Given the description of an element on the screen output the (x, y) to click on. 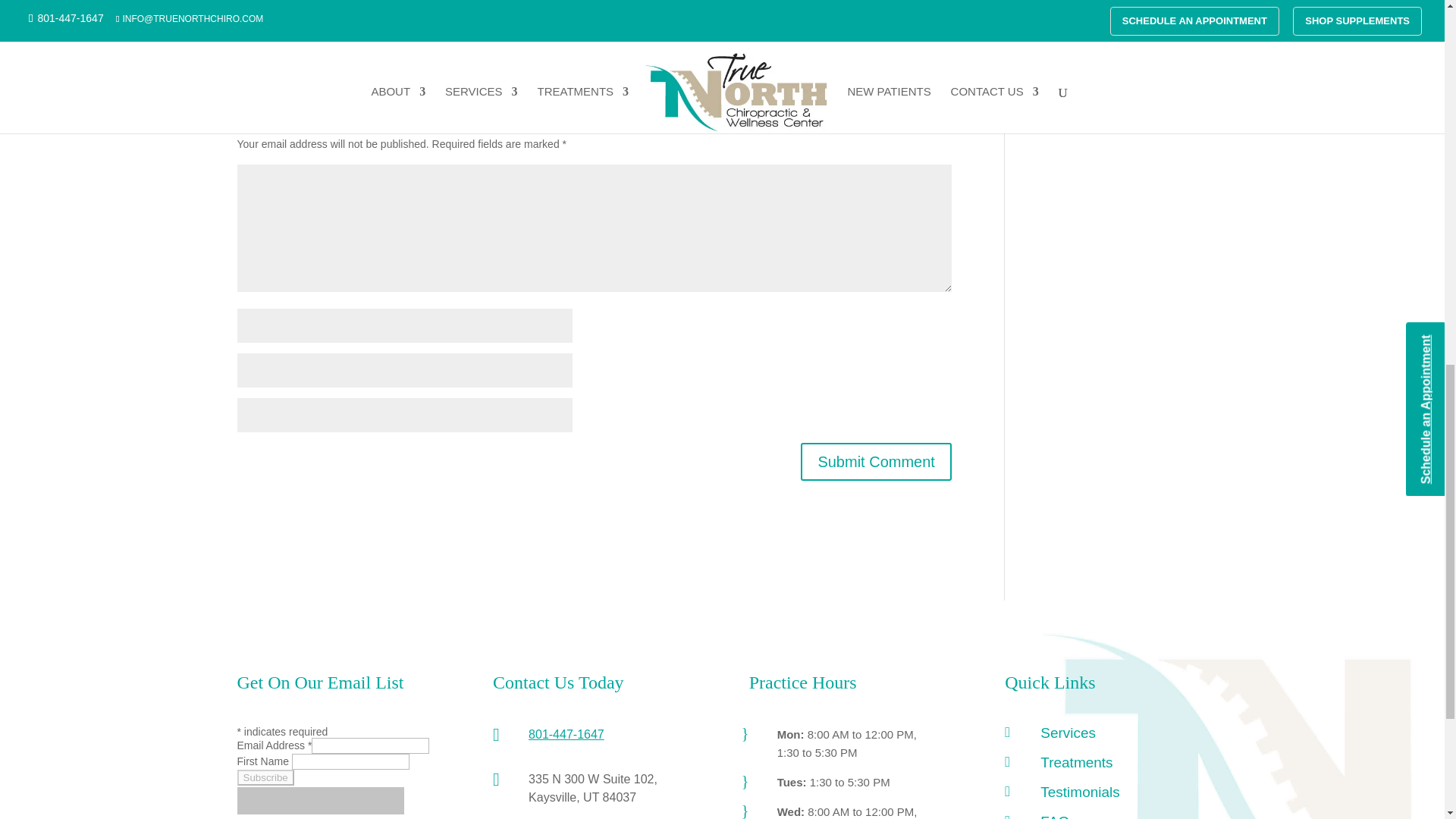
Subscribe (264, 777)
Submit Comment (876, 461)
Mailchimp - email marketing made easy and fun (319, 811)
